Given the description of an element on the screen output the (x, y) to click on. 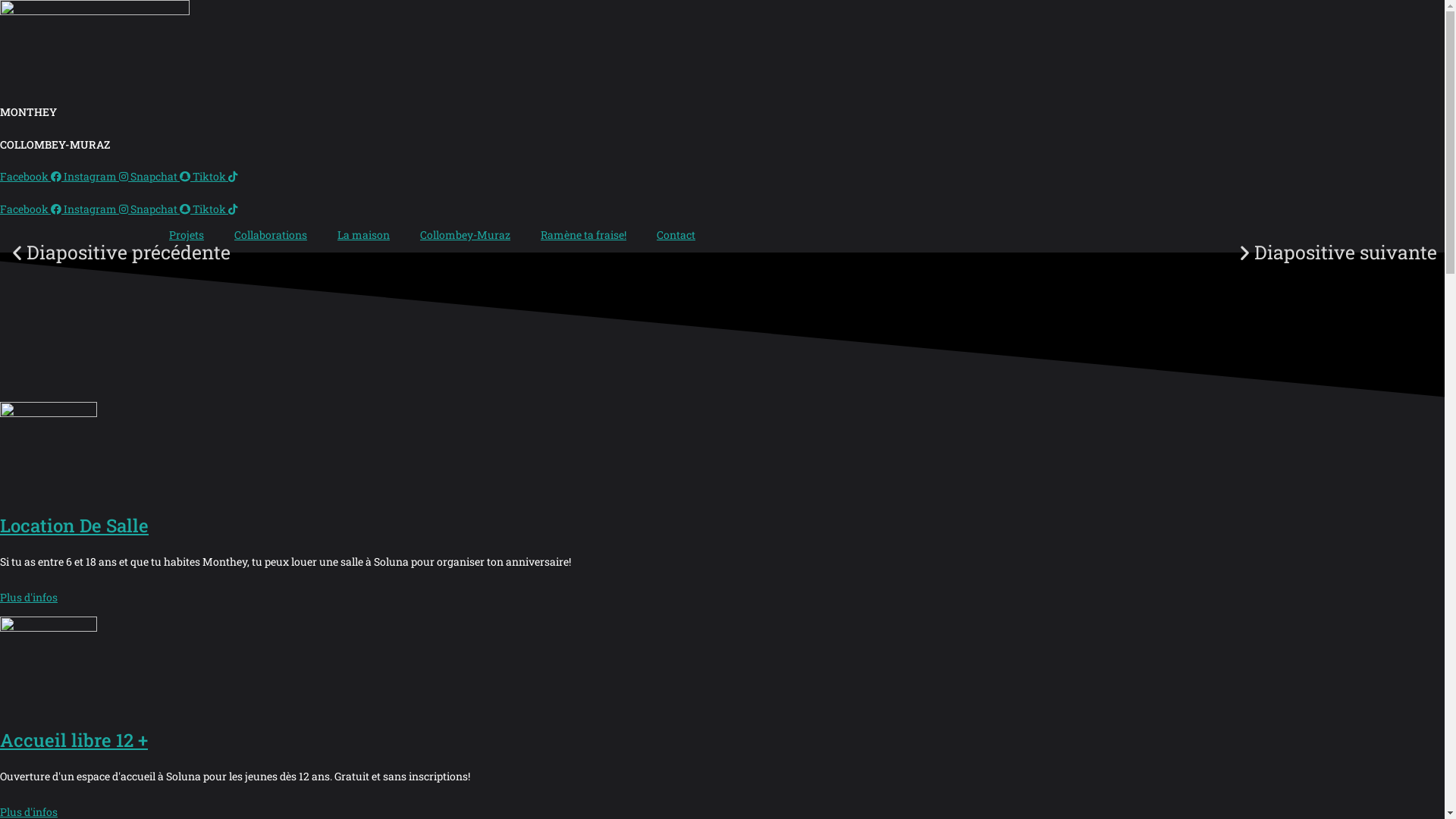
Contact Element type: text (675, 234)
Accueil libre 12 + Element type: text (73, 740)
La maison Element type: text (363, 234)
Collombey-Muraz Element type: text (464, 234)
Facebook Element type: text (31, 176)
Instagram Element type: text (96, 208)
Facebook Element type: text (31, 208)
Plus d'infos Element type: text (28, 596)
Instagram Element type: text (96, 176)
Collaborations Element type: text (270, 234)
Tiktok Element type: text (214, 208)
Location De Salle Element type: text (74, 525)
Tiktok Element type: text (214, 176)
Projets Element type: text (186, 234)
Snapchat Element type: text (161, 208)
Snapchat Element type: text (161, 176)
